Given the description of an element on the screen output the (x, y) to click on. 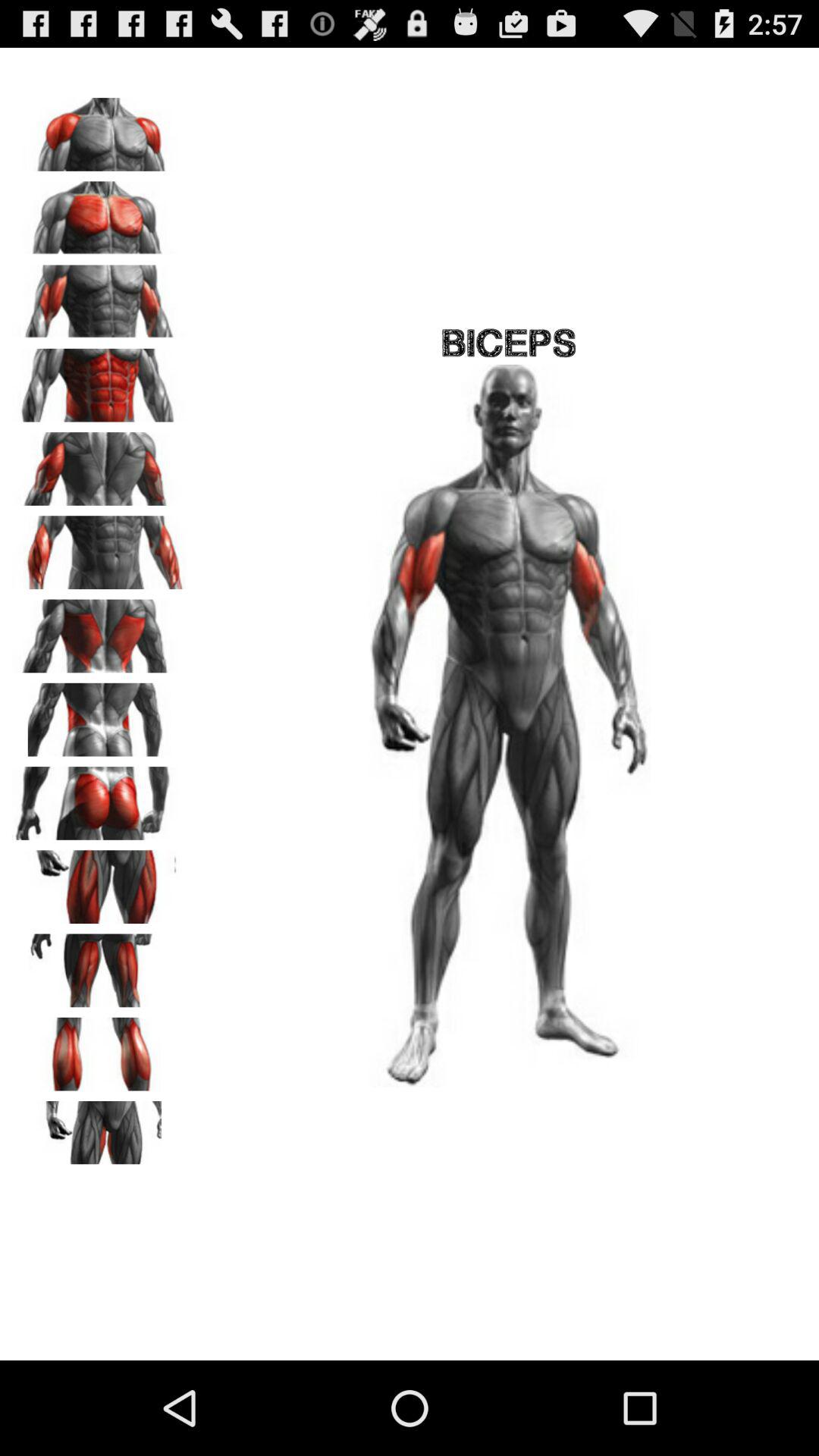
back side of the body (99, 714)
